Given the description of an element on the screen output the (x, y) to click on. 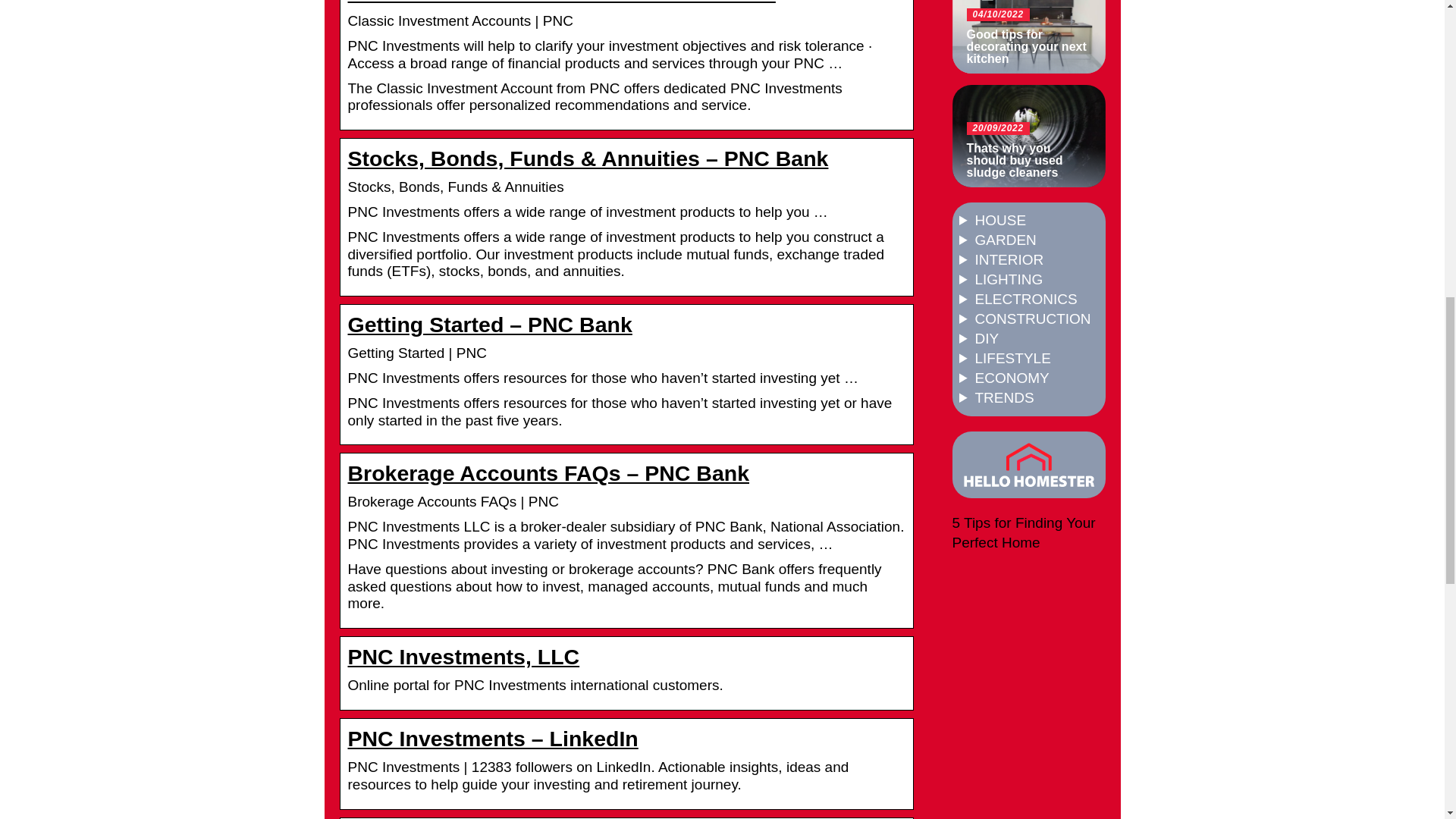
5 Tips for Finding Your Perfect Home (1024, 532)
ELECTRONICS (1026, 299)
HOUSE (1000, 220)
DIY (986, 338)
ECONOMY (1012, 377)
LIFESTYLE (1013, 358)
INTERIOR (1009, 259)
LIGHTING (1009, 279)
GARDEN (1005, 239)
TRENDS (1004, 397)
